Given the description of an element on the screen output the (x, y) to click on. 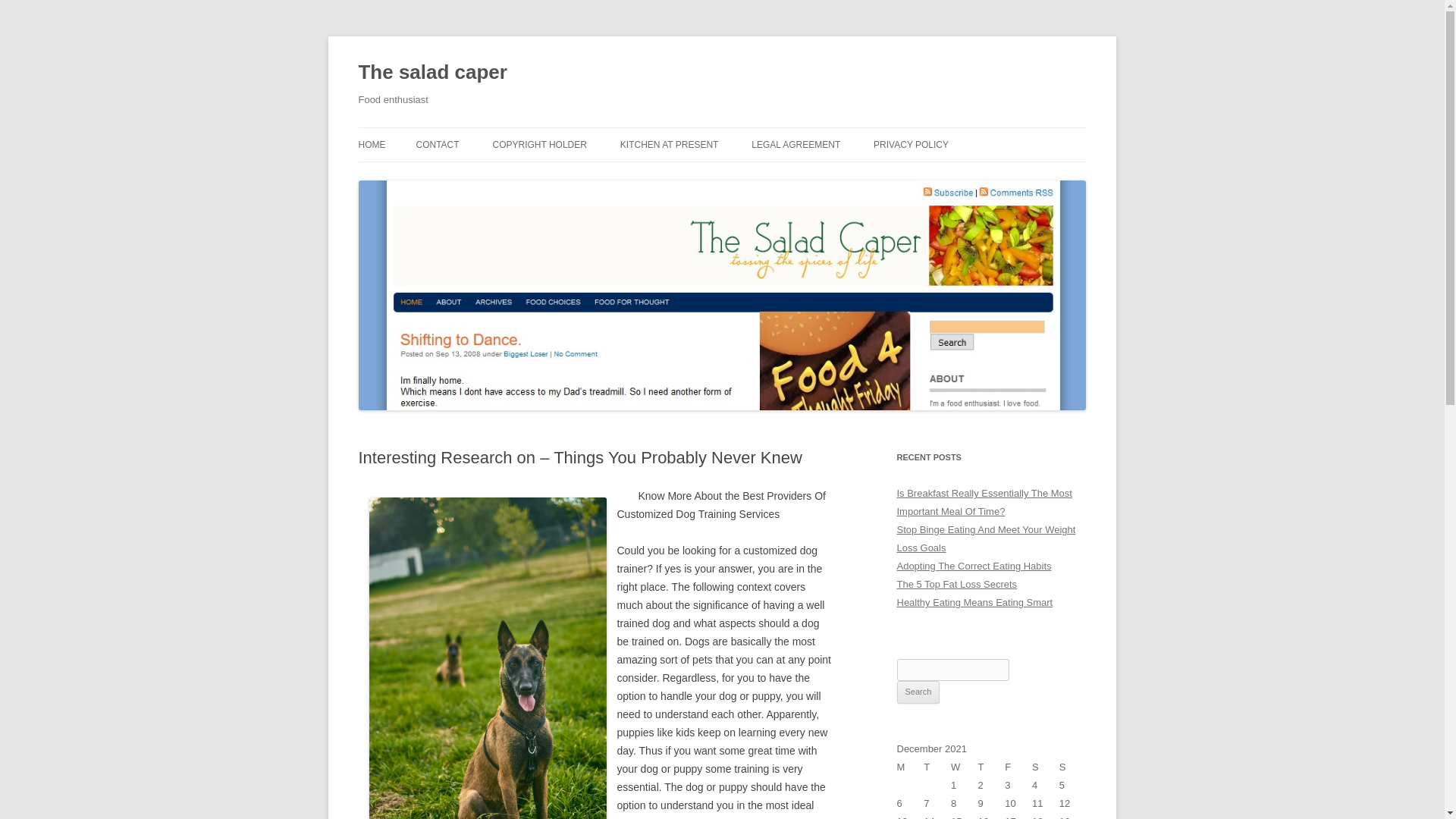
Friday (1018, 767)
Sunday (1072, 767)
KITCHEN AT PRESENT (669, 144)
The salad caper (432, 72)
Search (917, 691)
Healthy Eating Means Eating Smart (974, 602)
The salad caper (432, 72)
COPYRIGHT HOLDER (539, 144)
CONTACT (436, 144)
